Given the description of an element on the screen output the (x, y) to click on. 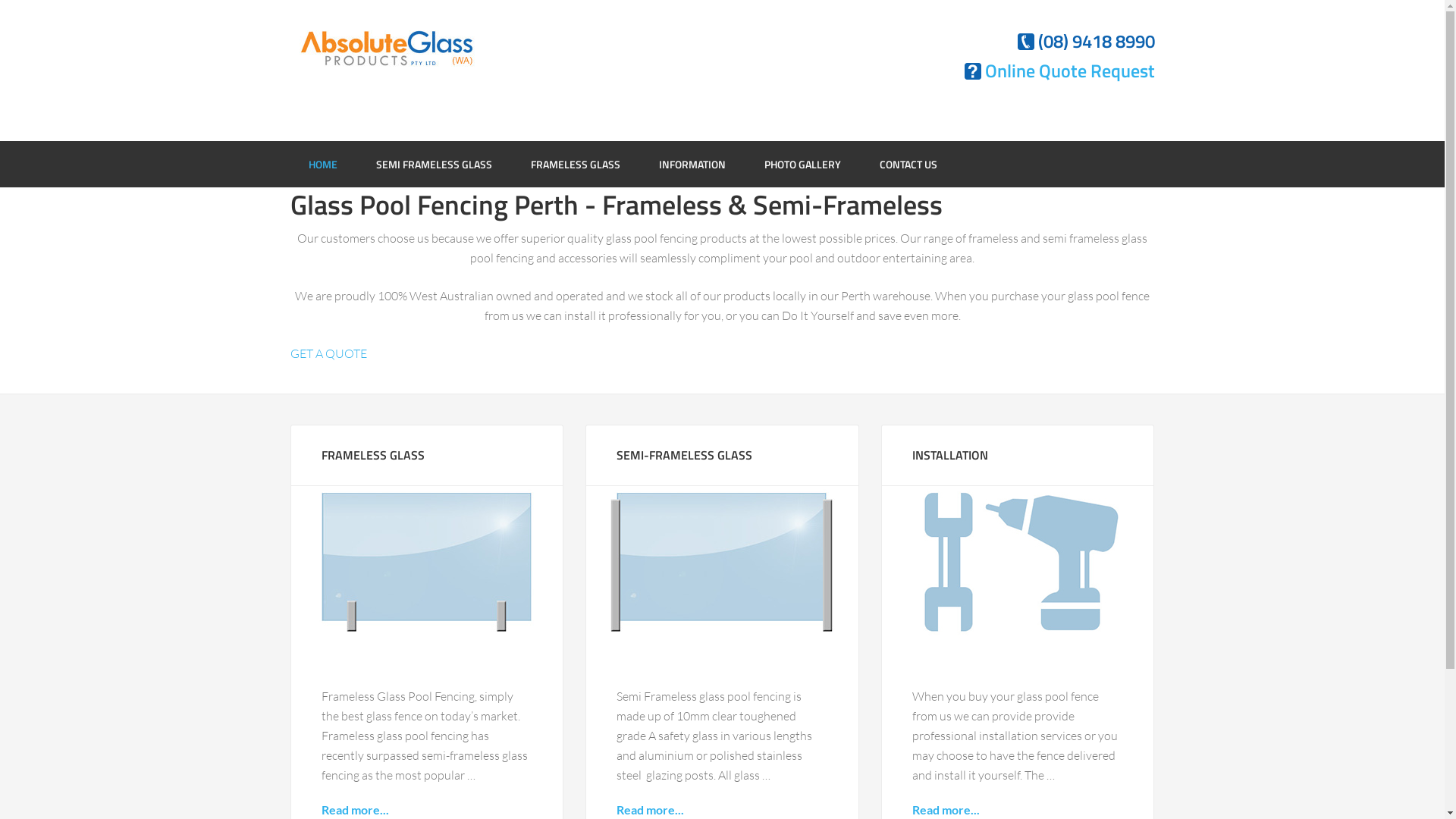
INFORMATION Element type: text (691, 164)
HOME Element type: text (321, 164)
Online Quote Request Element type: text (1069, 70)
CONTACT US Element type: text (908, 164)
GET A QUOTE Element type: text (327, 352)
PHOTO GALLERY Element type: text (802, 164)
Absolute Glass Products (WA) Element type: text (386, 68)
FRAMELESS GLASS Element type: text (575, 164)
SEMI FRAMELESS GLASS Element type: text (433, 164)
